Given the description of an element on the screen output the (x, y) to click on. 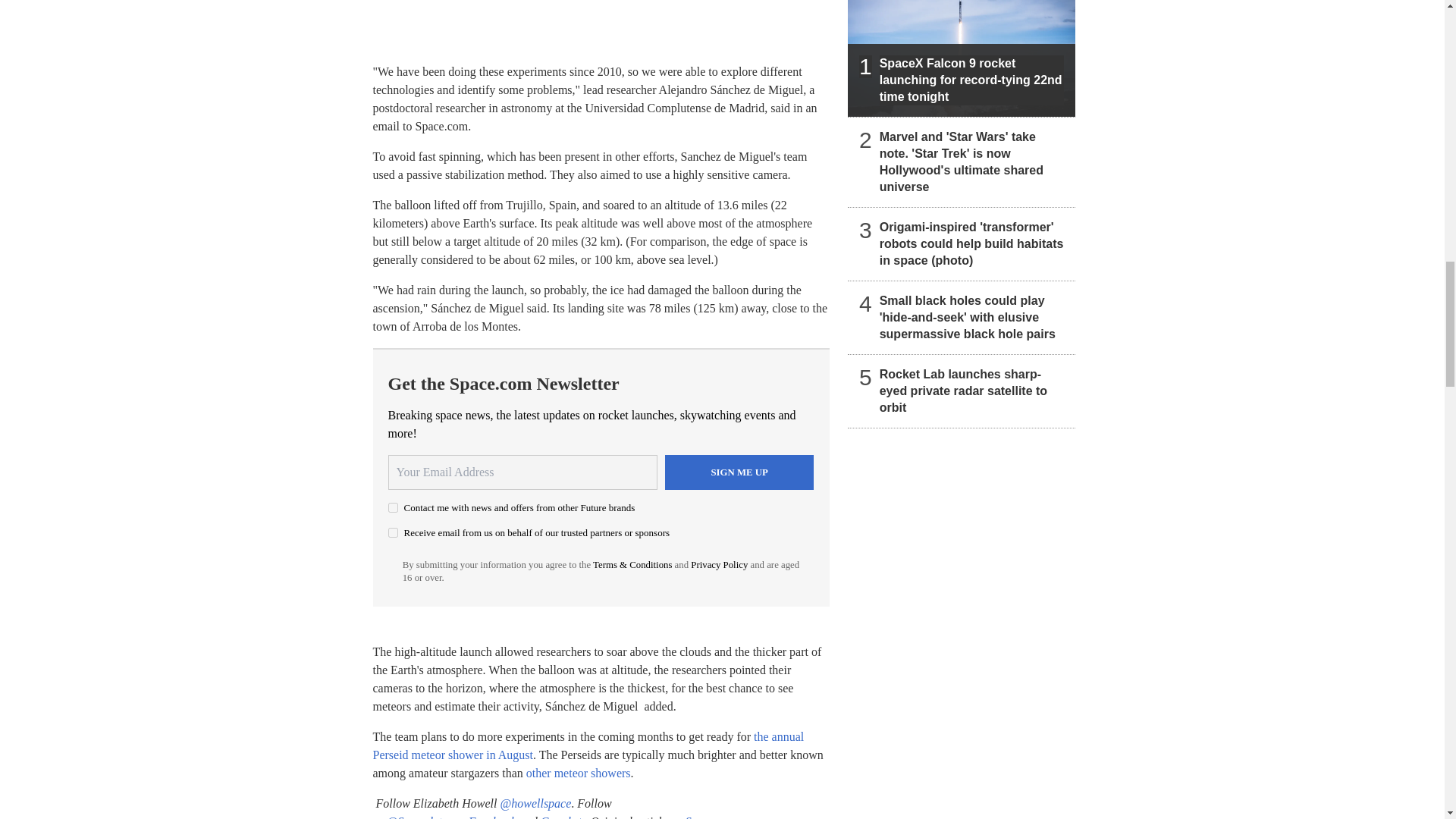
on (392, 532)
Sign me up (739, 472)
on (392, 507)
